Given the description of an element on the screen output the (x, y) to click on. 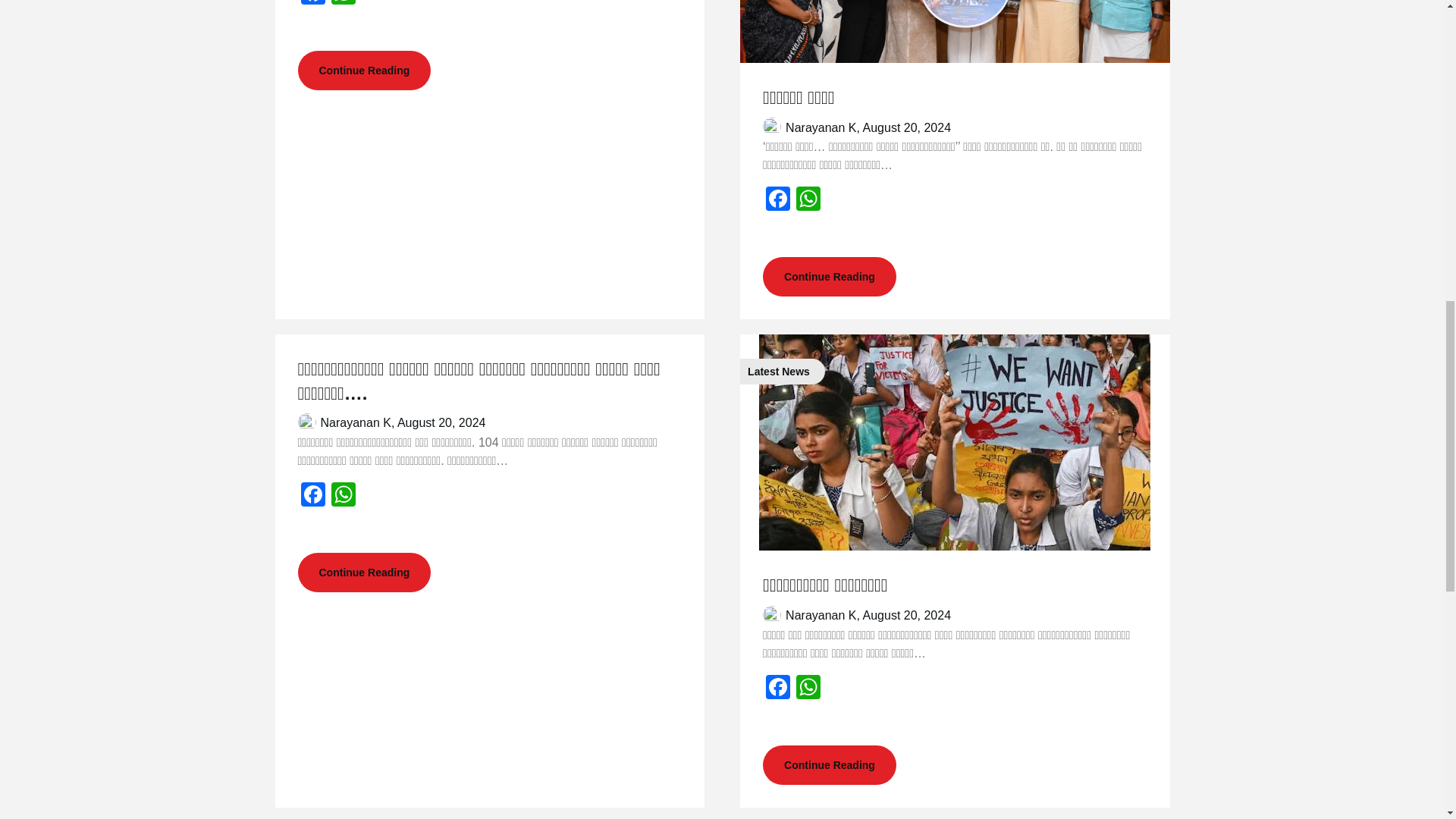
Facebook (777, 200)
Facebook (312, 4)
Continue Reading (829, 276)
Facebook (777, 688)
Continue Reading (363, 70)
August 20, 2024 (441, 422)
Facebook (312, 496)
Continue Reading (829, 764)
Facebook (777, 688)
WhatsApp (342, 4)
